Given the description of an element on the screen output the (x, y) to click on. 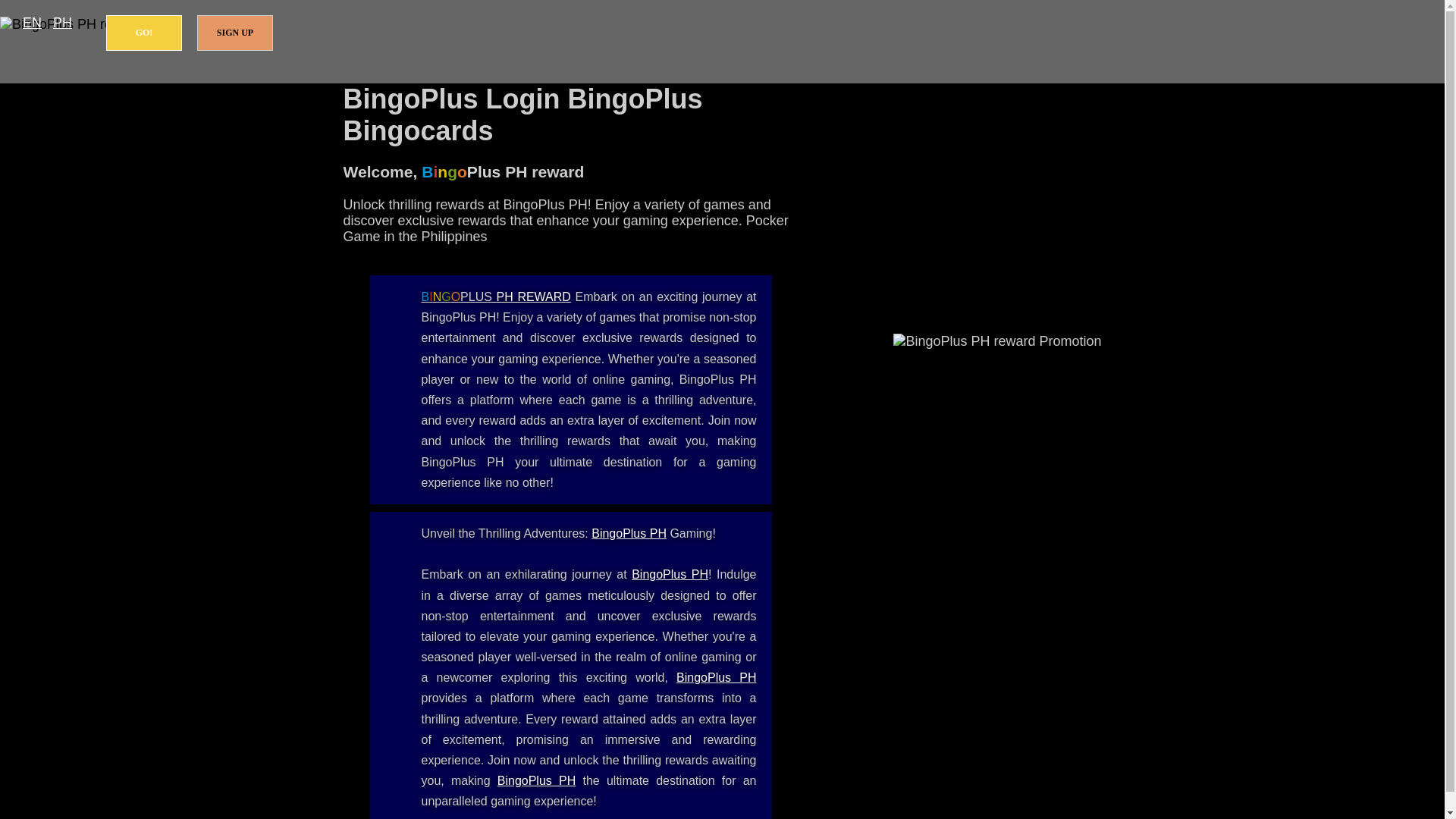
GO! (144, 32)
BingoPlus PH (669, 574)
Pilipinas - Filipino (61, 23)
BingoPlus PH - BingoPlus PH reward (536, 780)
BingoPlus PH (536, 780)
BingoPlus PH - BingoPlus PH reward (628, 533)
BingoPlus PH - BingoPlus PH reward (669, 574)
PH (61, 23)
BingoPlus PH (716, 676)
BINGOPLUS PH REWARD (496, 296)
BingoPlus PH (628, 533)
BingoPlus PH reward (496, 296)
EN (32, 23)
English - Filipino (32, 23)
SIGN UP (234, 32)
